Given the description of an element on the screen output the (x, y) to click on. 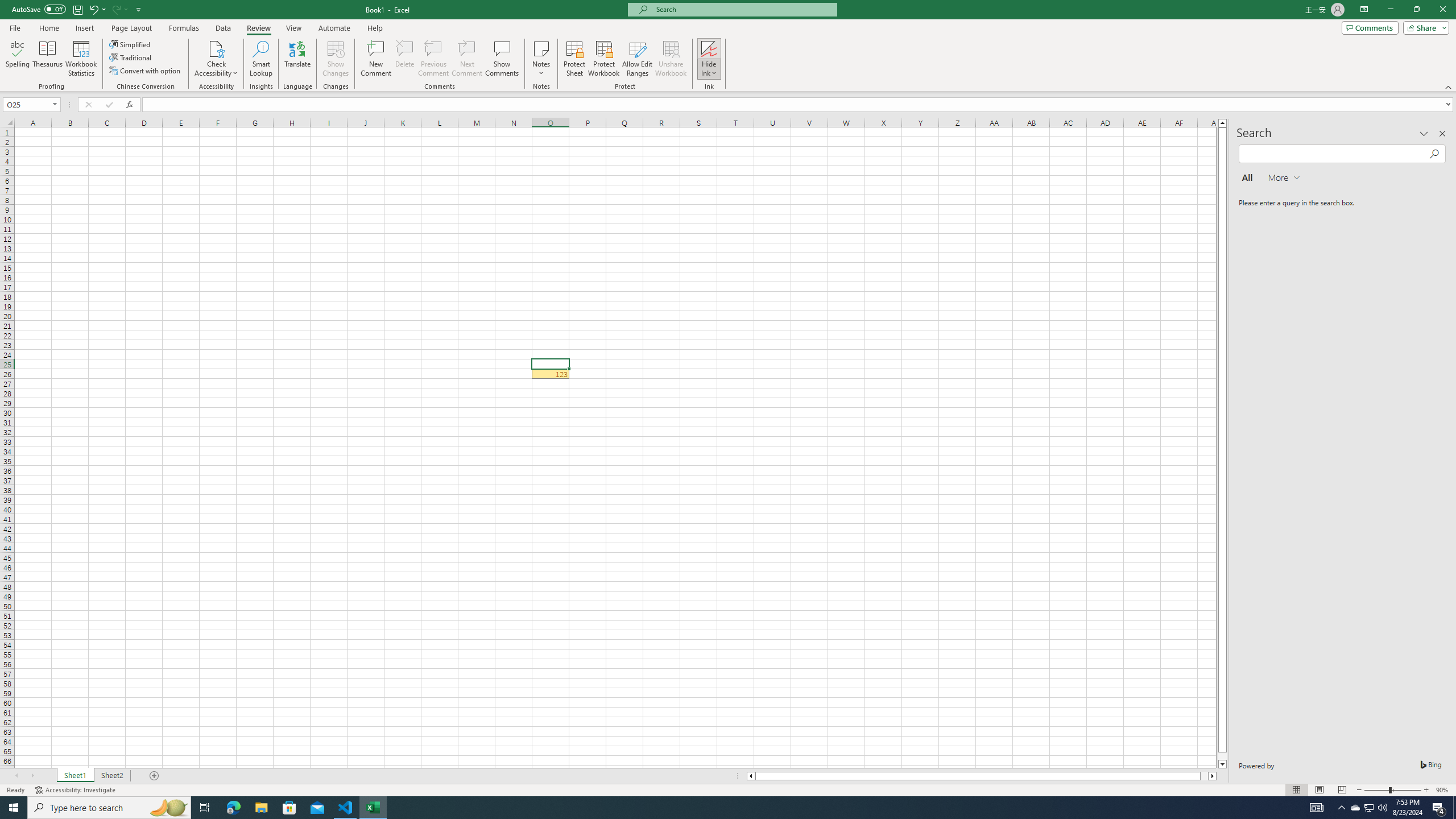
Sheet2 (112, 775)
View (293, 28)
Review (258, 28)
Scroll Left (16, 775)
Undo (92, 9)
Thesaurus... (47, 58)
Notes (541, 58)
Spelling... (17, 58)
Delete (404, 58)
Column right (1212, 775)
Scroll Right (32, 775)
Close (1442, 9)
Accessibility Checker Accessibility: Investigate (76, 790)
Zoom In (1426, 790)
Zoom (1392, 790)
